Given the description of an element on the screen output the (x, y) to click on. 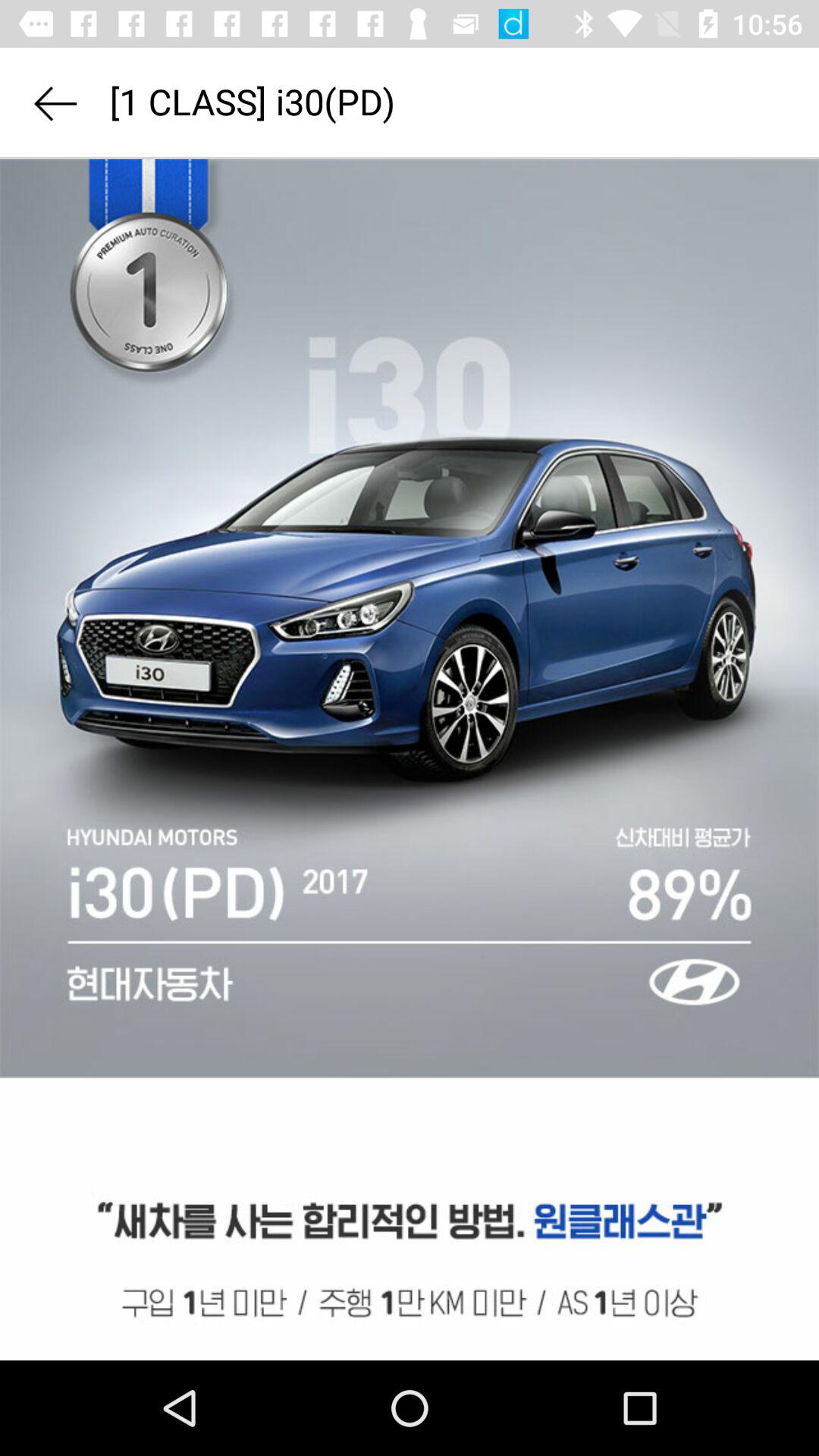
go to previous page (54, 103)
